Given the description of an element on the screen output the (x, y) to click on. 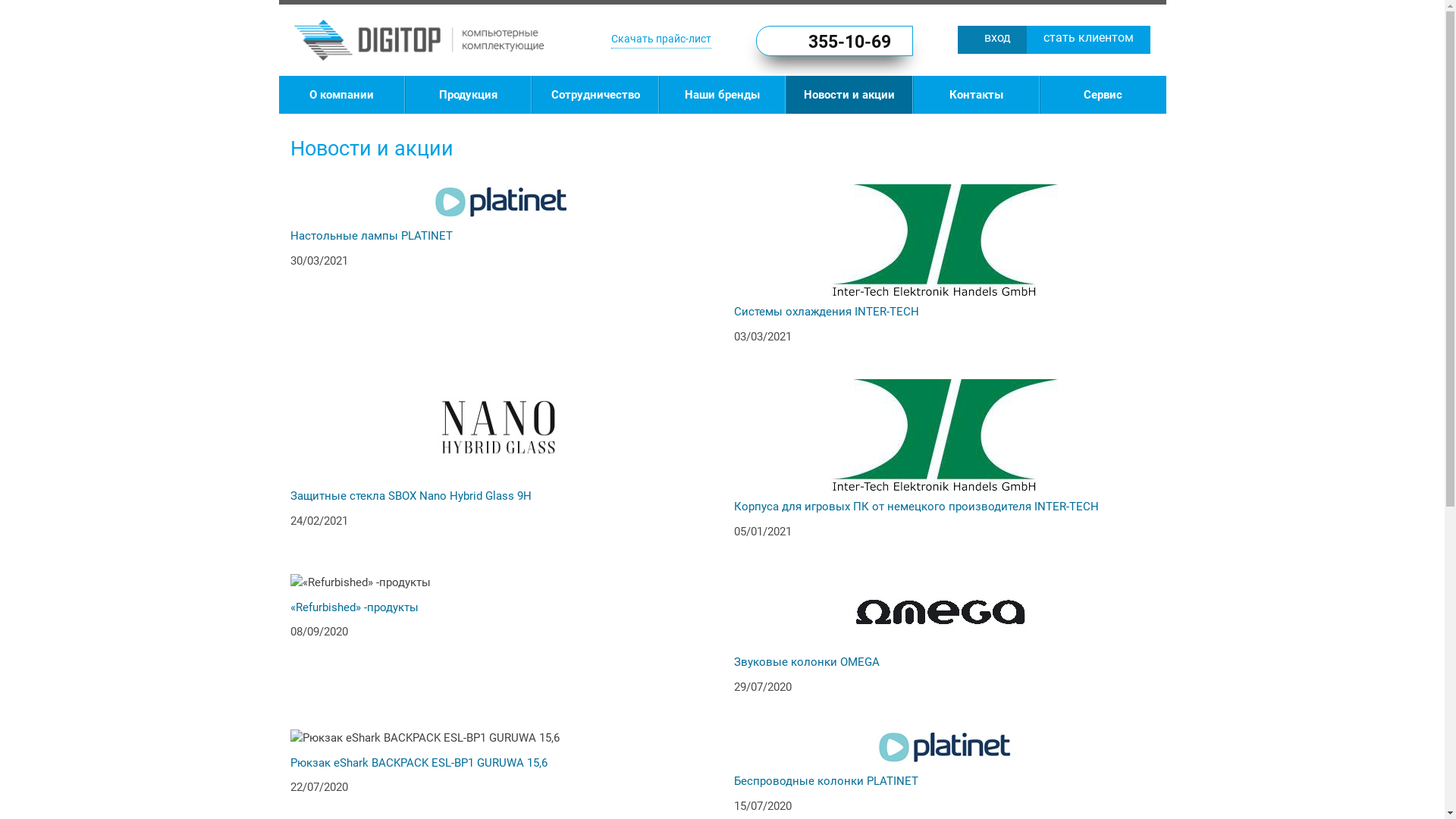
DIGITOP Element type: hover (419, 39)
